Given the description of an element on the screen output the (x, y) to click on. 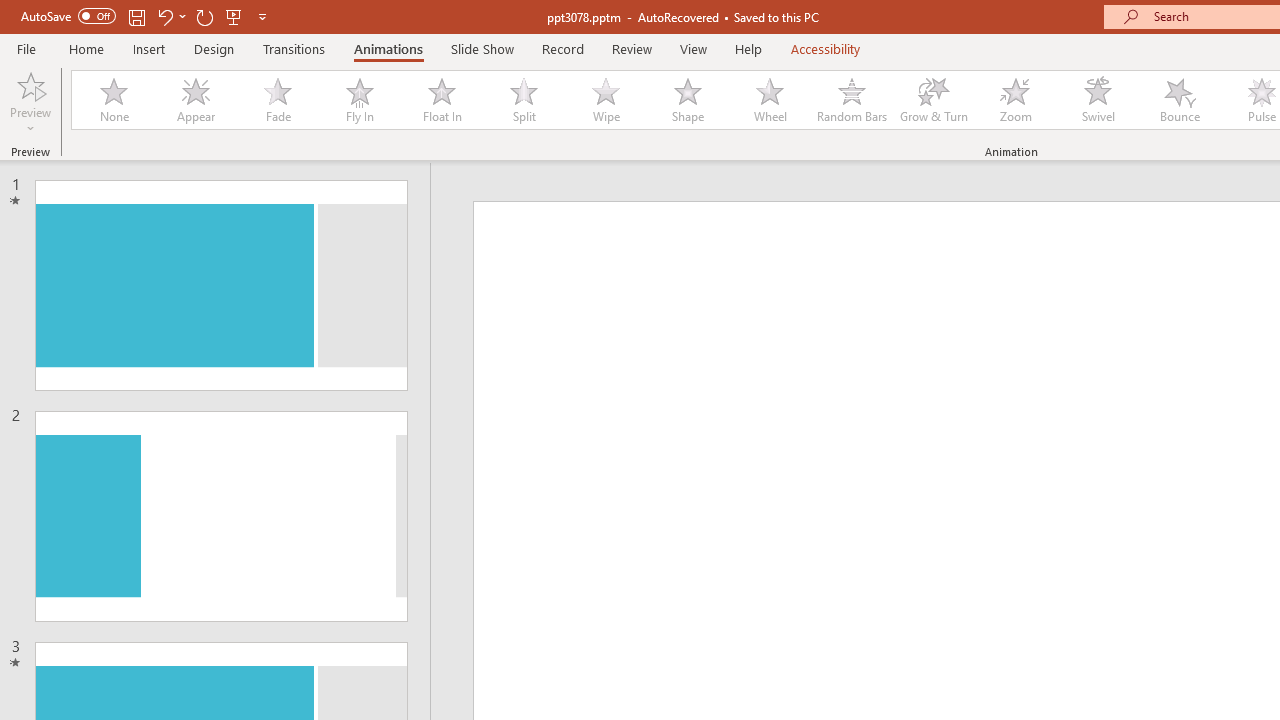
Grow & Turn (934, 100)
Float In (441, 100)
